Given the description of an element on the screen output the (x, y) to click on. 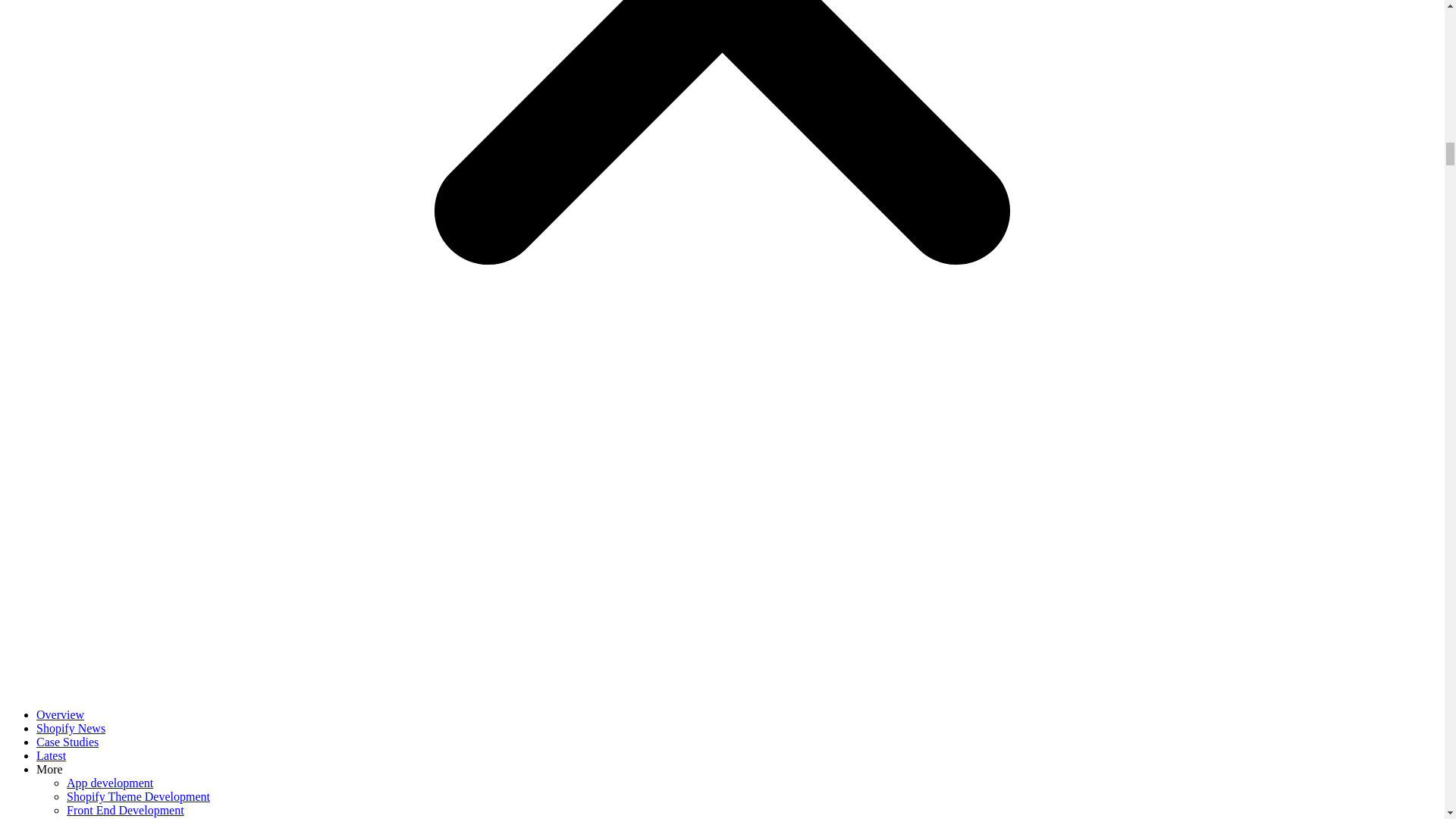
Overview (60, 714)
Shopify News (70, 727)
Case Studies (67, 741)
Latest (50, 755)
App development (109, 782)
Shopify Theme Development (137, 796)
Front End Development (125, 809)
